Given the description of an element on the screen output the (x, y) to click on. 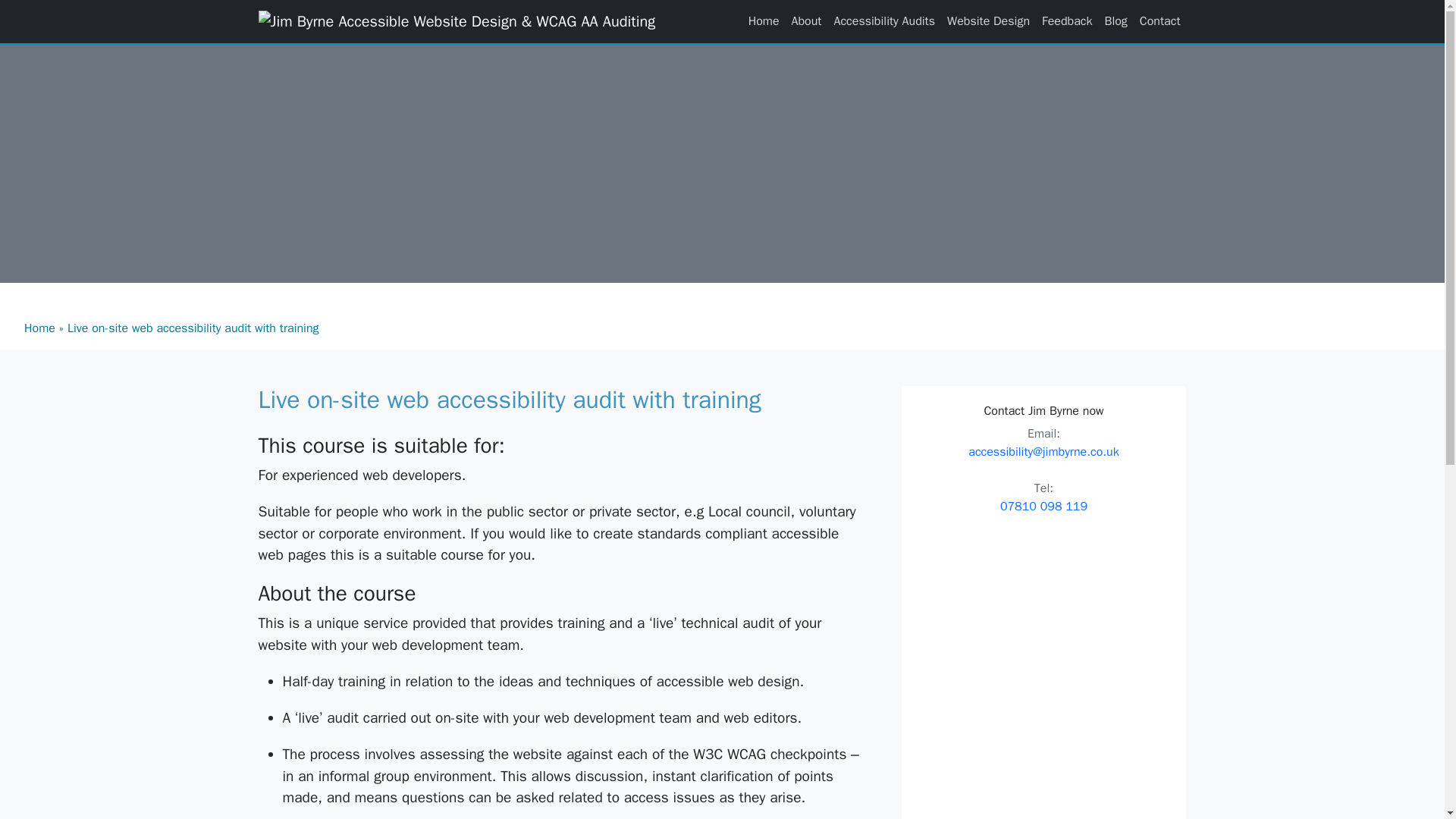
07810 098 119 (1043, 506)
Home (39, 328)
About (807, 20)
Website Design (987, 20)
Accessibility Audits (883, 20)
Contact (1160, 20)
Feedback (1066, 20)
Blog (1114, 20)
Home (764, 20)
